Given the description of an element on the screen output the (x, y) to click on. 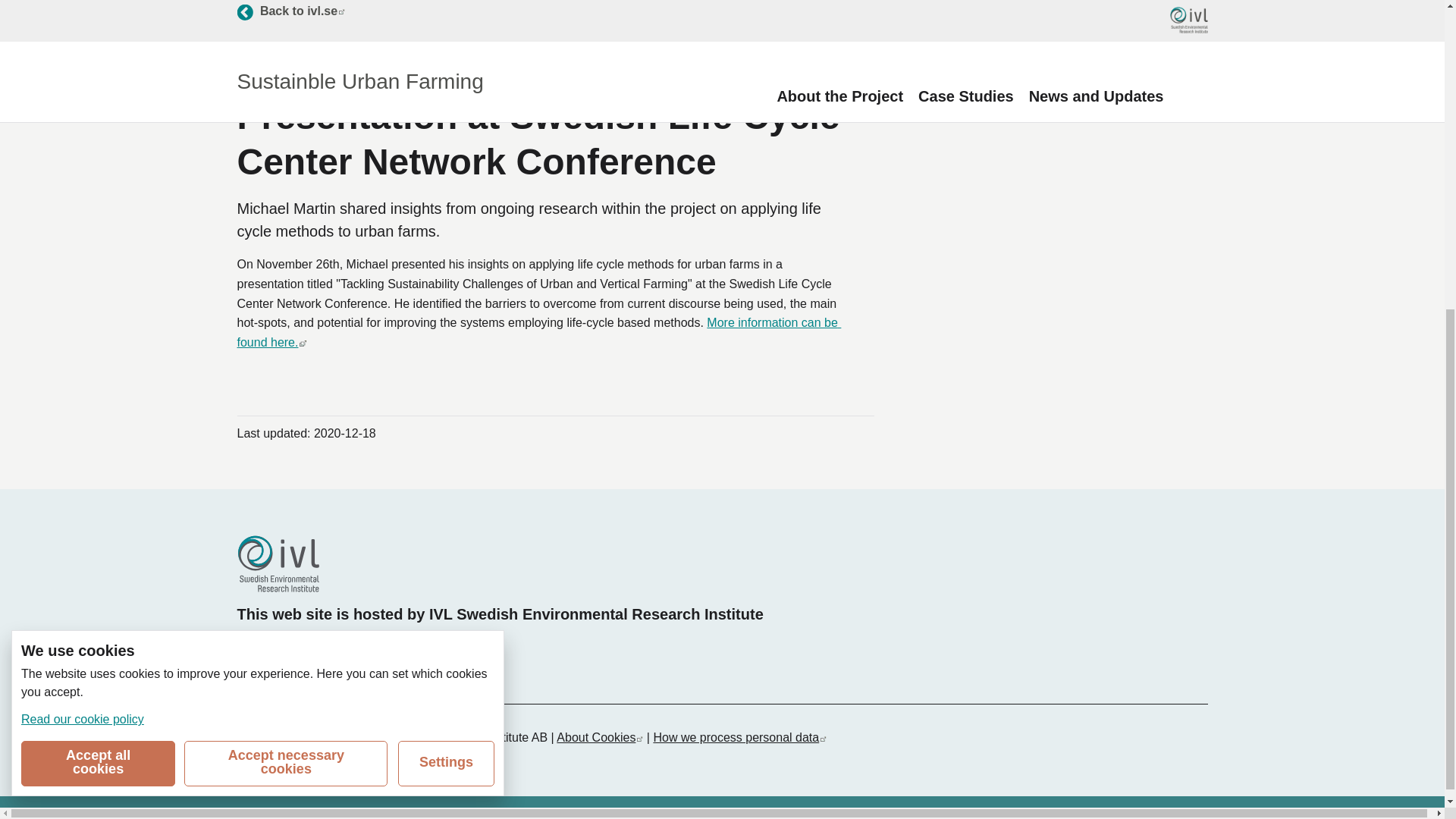
Accept all cookies (97, 262)
Read our cookie policy (599, 737)
Accept necessary cookies (82, 217)
Settings (266, 644)
